Given the description of an element on the screen output the (x, y) to click on. 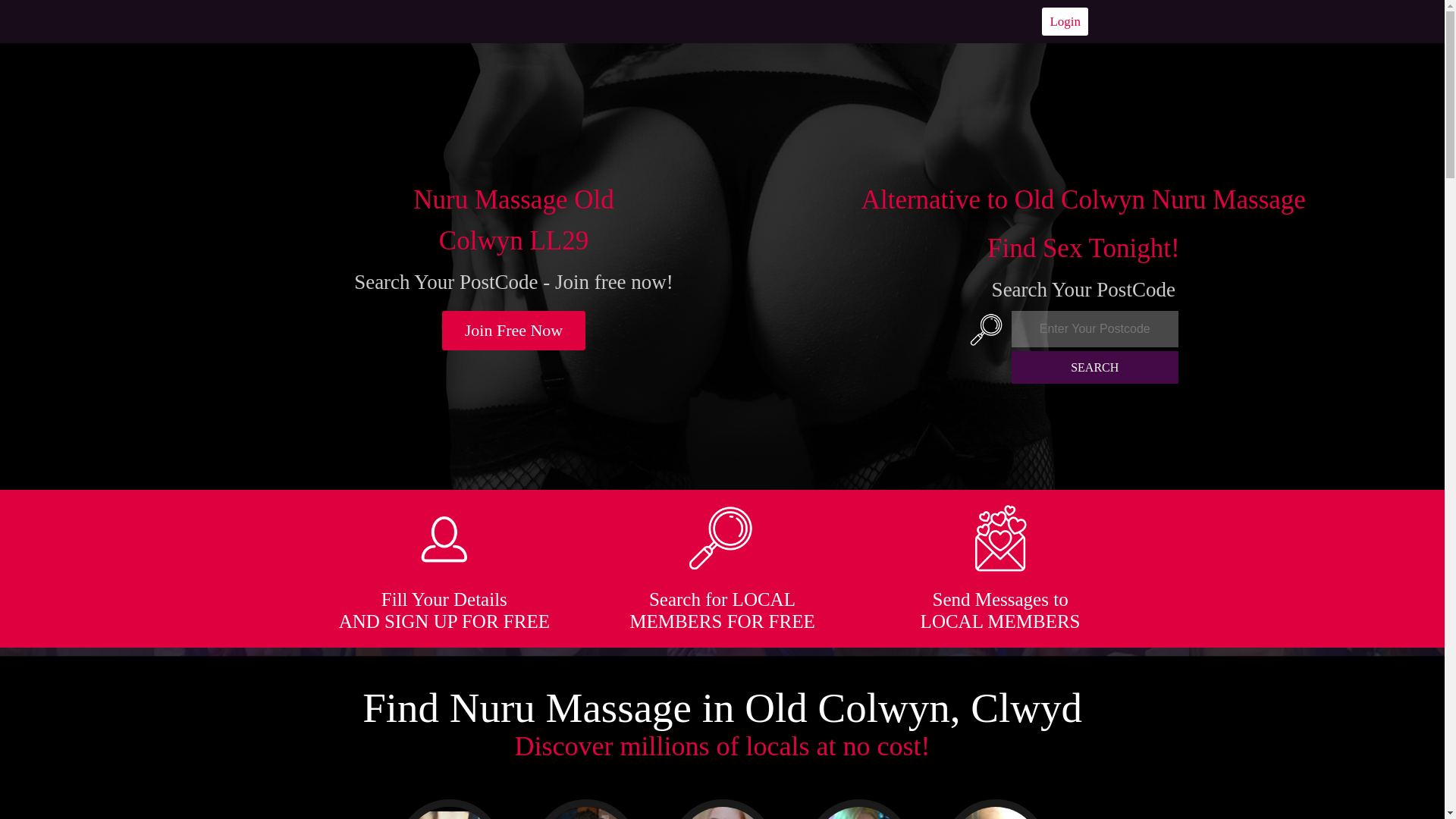
Join (514, 330)
Login (1064, 21)
SEARCH (1094, 367)
Login (1064, 21)
Join Free Now (514, 330)
